Given the description of an element on the screen output the (x, y) to click on. 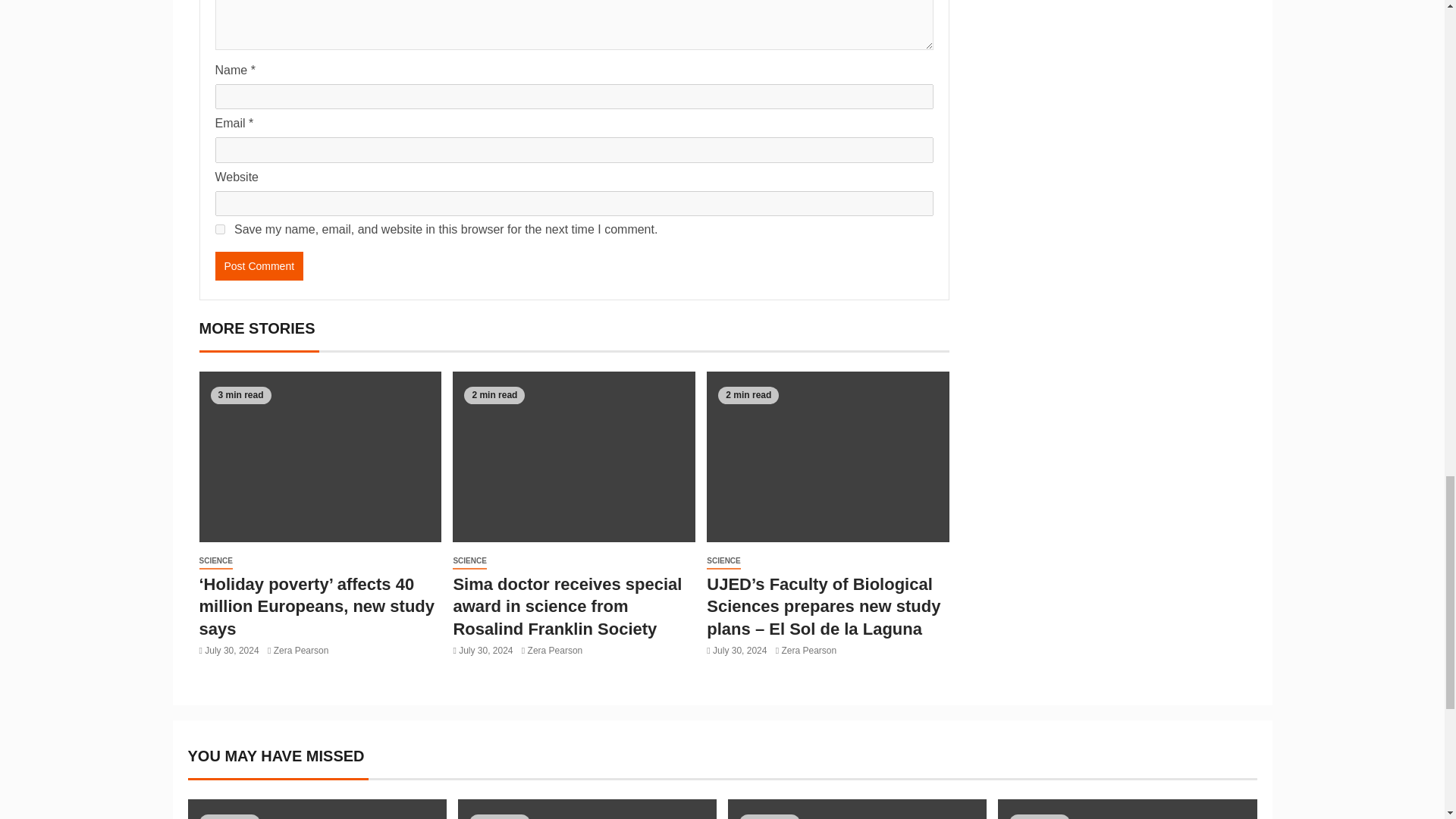
SCIENCE (214, 561)
Post Comment (259, 265)
Zera Pearson (301, 650)
SCIENCE (469, 561)
Post Comment (259, 265)
yes (220, 229)
